Given the description of an element on the screen output the (x, y) to click on. 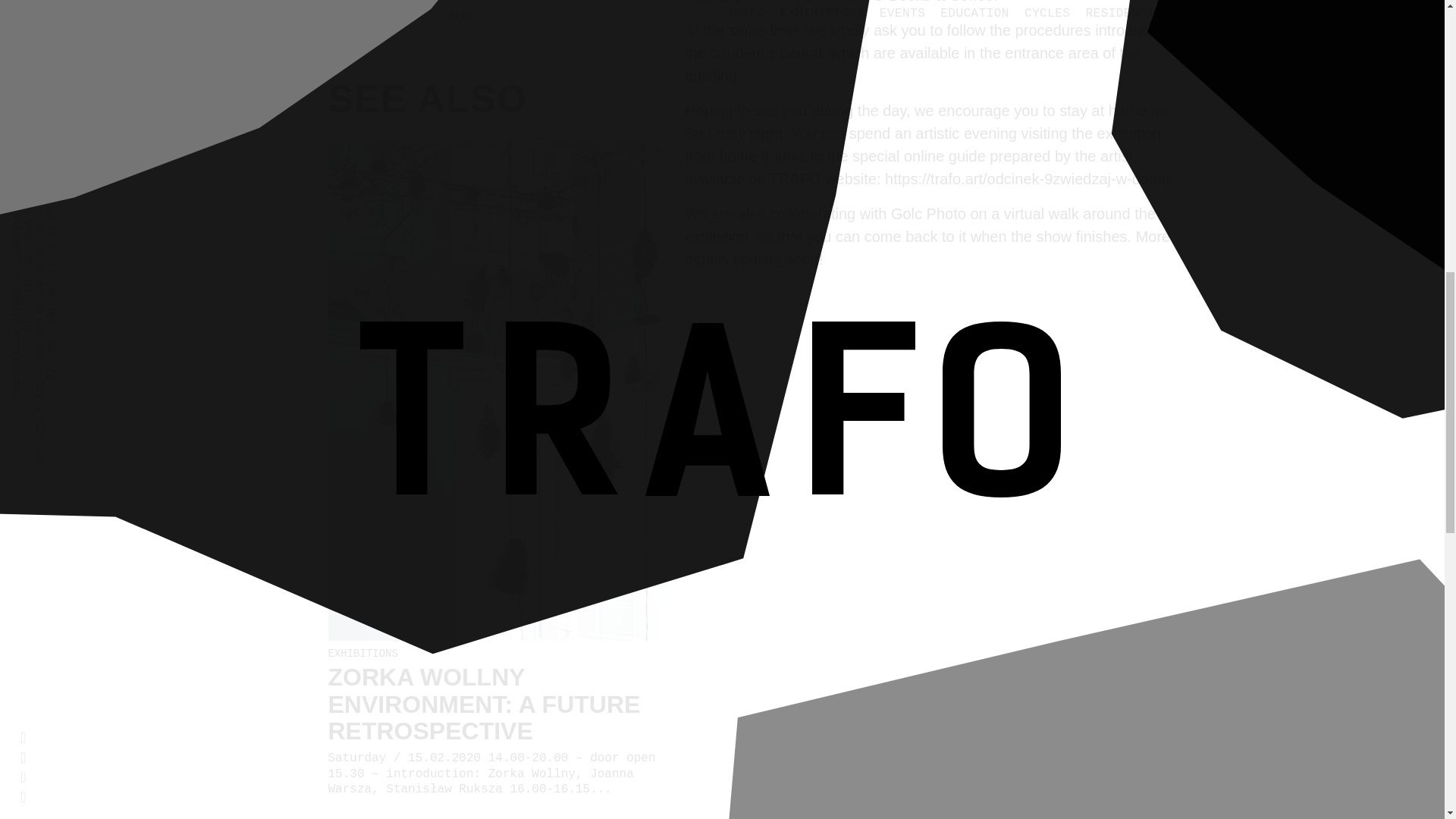
Share on Facebook (706, 327)
Share on Facebook (739, 327)
Share on Twitter (759, 327)
